Given the description of an element on the screen output the (x, y) to click on. 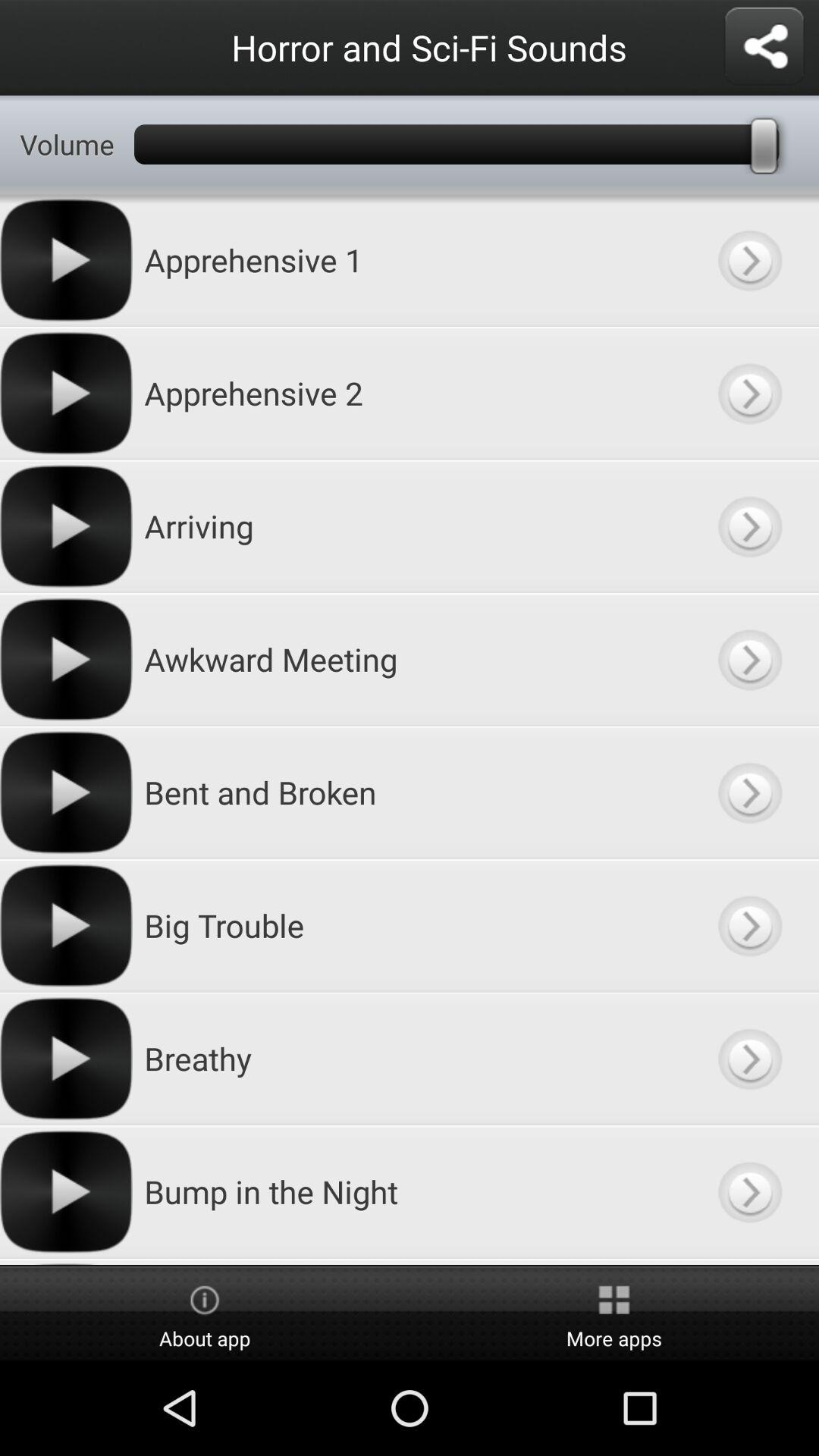
play sound (749, 659)
